Given the description of an element on the screen output the (x, y) to click on. 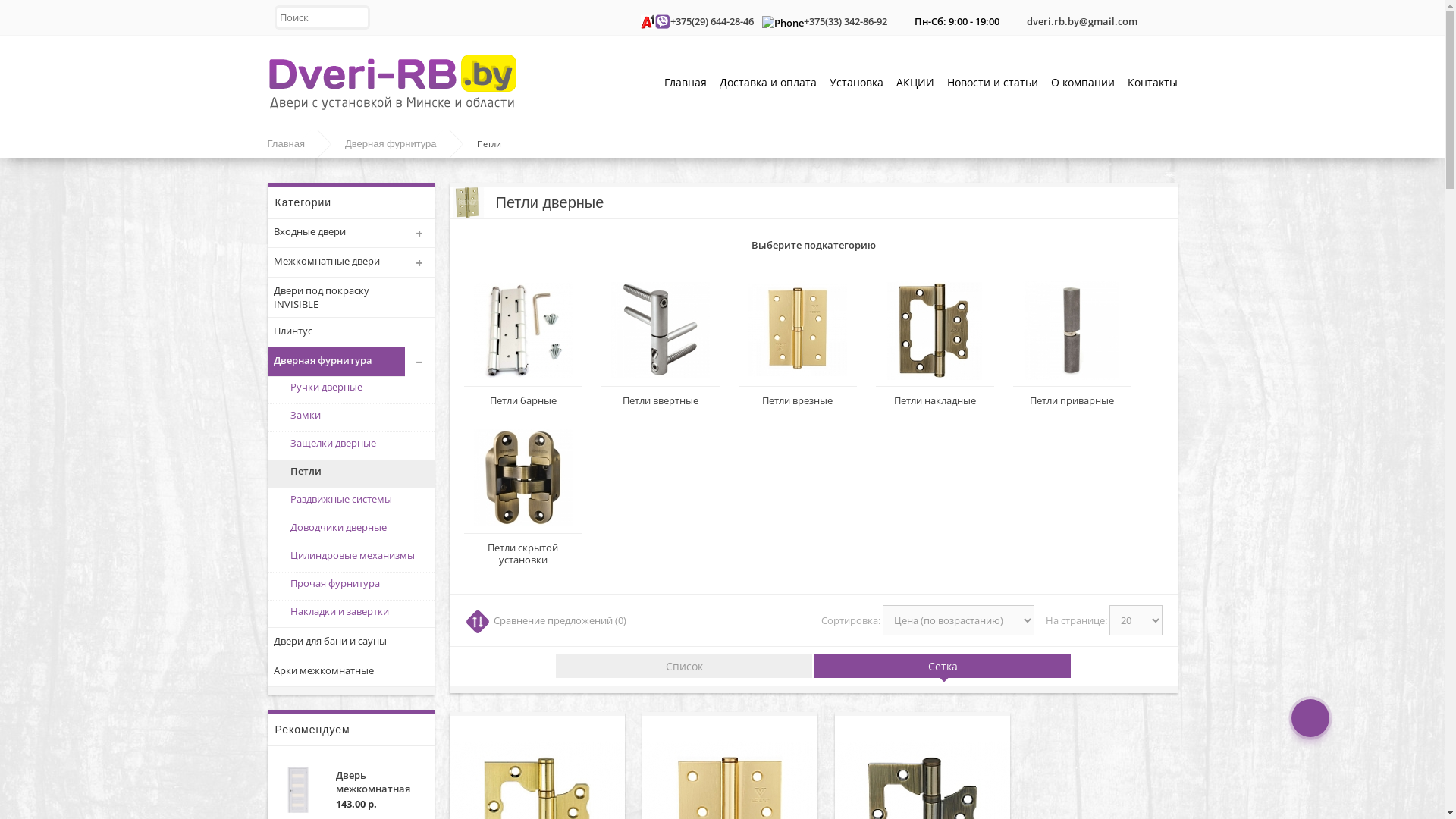
+375(33) 342-86-92 Element type: text (845, 21)
+375(29) 644-28-46 Element type: text (711, 21)
Email Element type: hover (1015, 16)
dveri.rb.by@gmail.com Element type: text (1081, 21)
Work Time Element type: hover (902, 16)
